Given the description of an element on the screen output the (x, y) to click on. 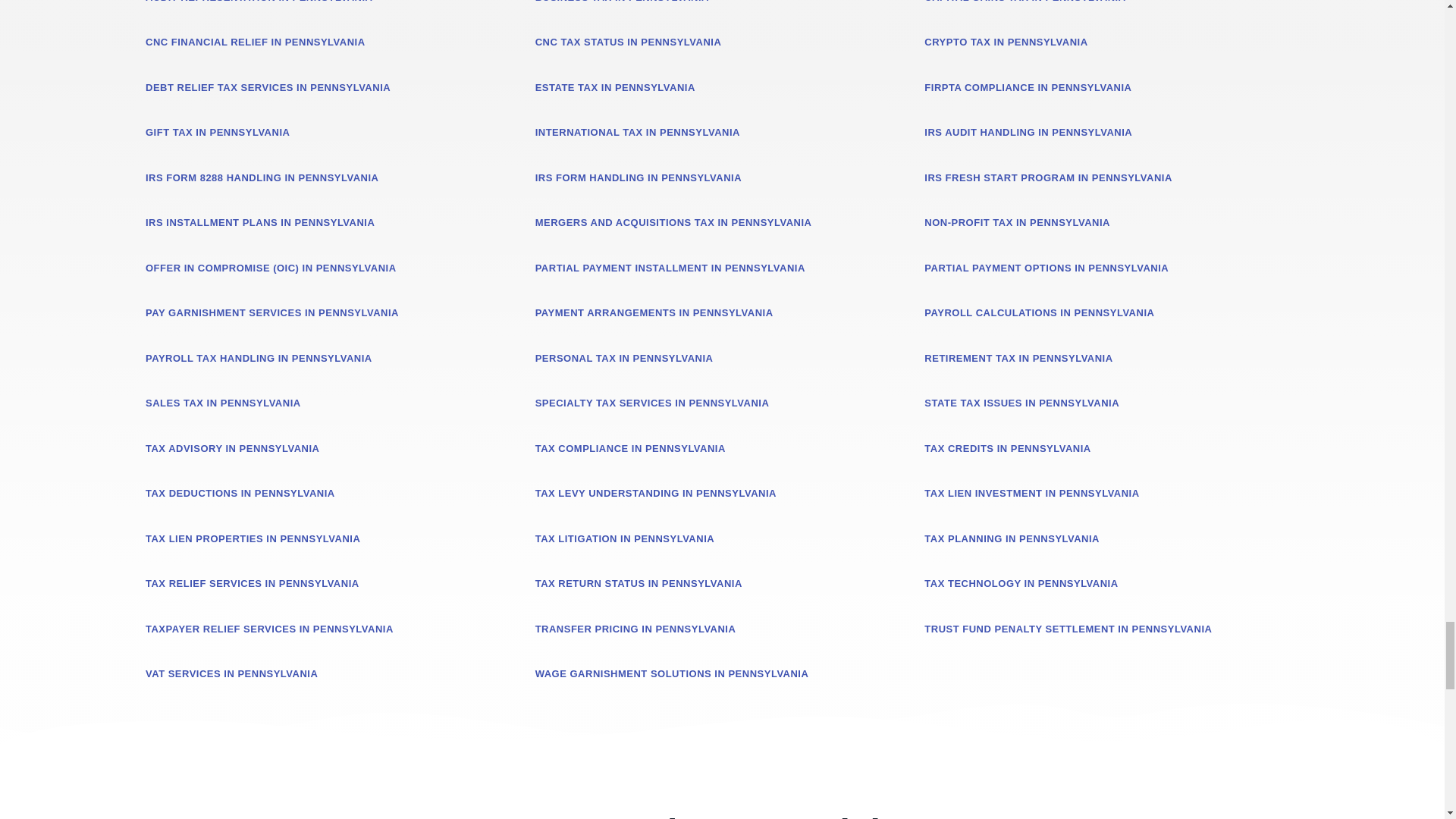
Estate Tax in Pennsylvania (615, 87)
FIRPTA Compliance in Pennsylvania (1027, 87)
Business Tax in Pennsylvania (622, 1)
Gift Tax in Pennsylvania (217, 132)
CNC Financial Relief in Pennsylvania (255, 41)
Capital Gains Tax in Pennsylvania (1024, 1)
Debt Relief Tax Services in Pennsylvania (267, 87)
CNC Tax Status in Pennsylvania (628, 41)
Crypto Tax in Pennsylvania (1005, 41)
International Tax in Pennsylvania (637, 132)
